Given the description of an element on the screen output the (x, y) to click on. 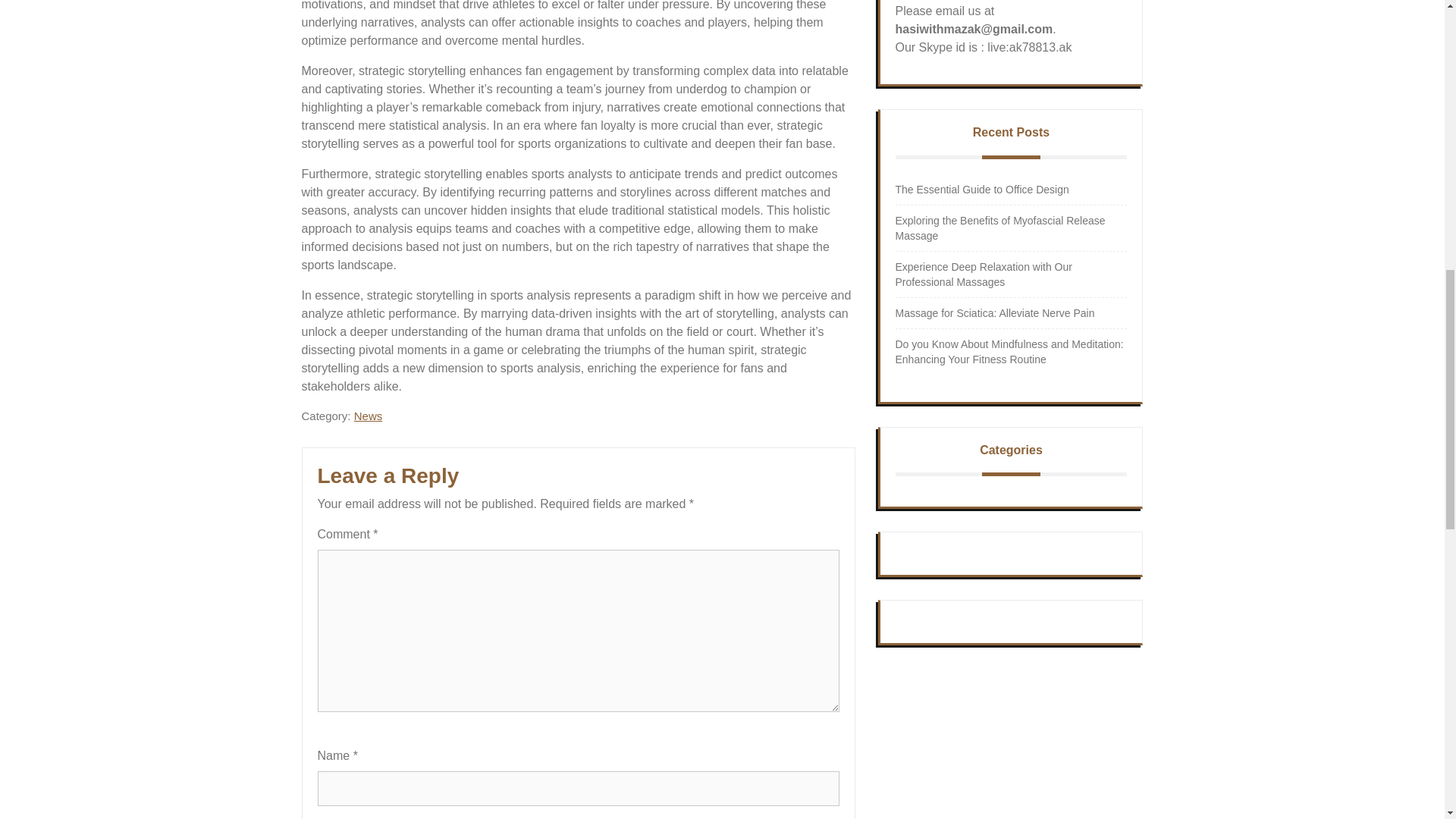
The Essential Guide to Office Design (981, 189)
News (367, 415)
